Given the description of an element on the screen output the (x, y) to click on. 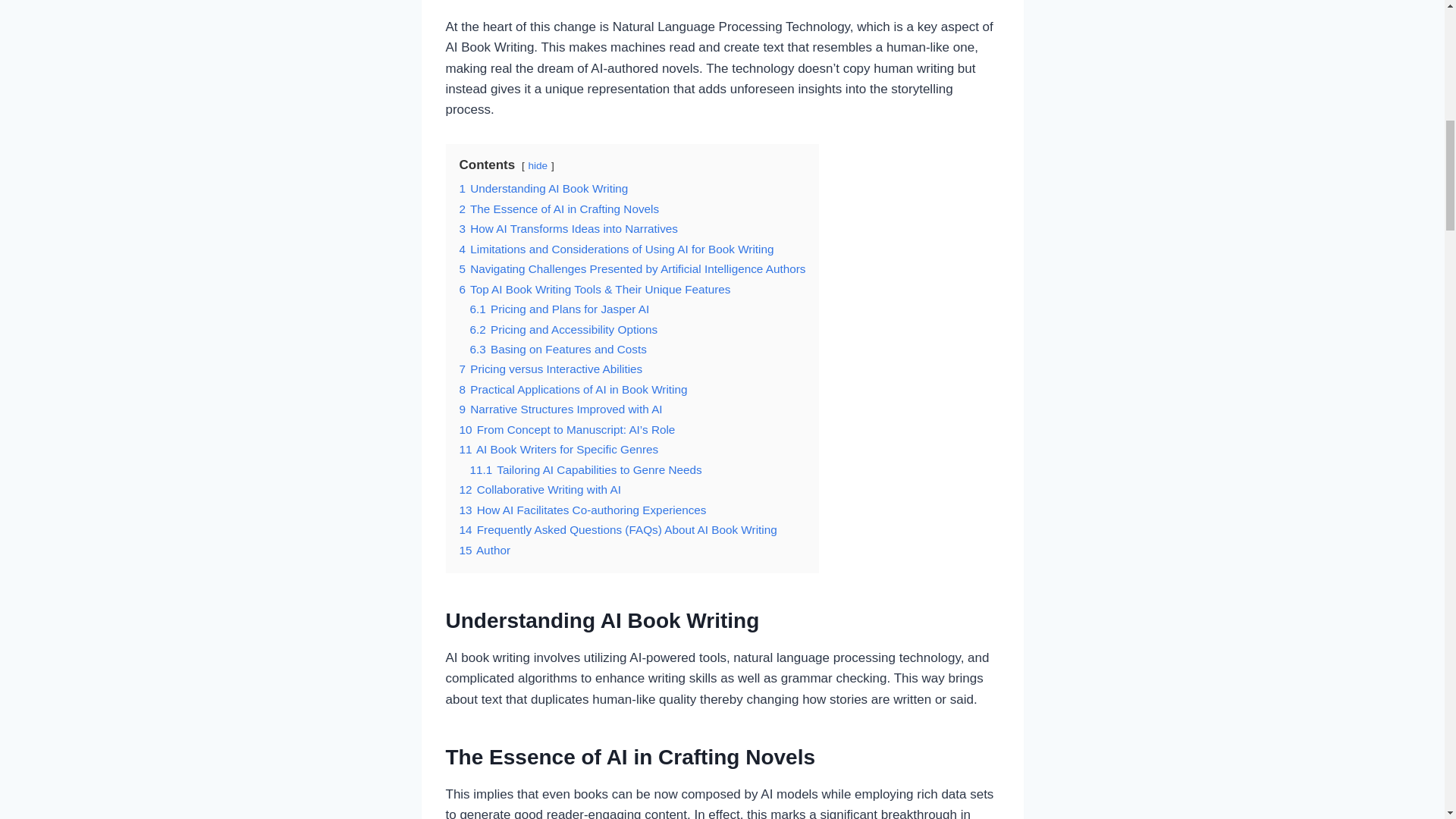
1 Understanding AI Book Writing (544, 187)
6.2 Pricing and Accessibility Options (564, 328)
hide (537, 165)
7 Pricing versus Interactive Abilities (551, 368)
6.3 Basing on Features and Costs (558, 349)
8 Practical Applications of AI in Book Writing (573, 389)
6.1 Pricing and Plans for Jasper AI (559, 308)
3 How AI Transforms Ideas into Narratives (569, 228)
